Given the description of an element on the screen output the (x, y) to click on. 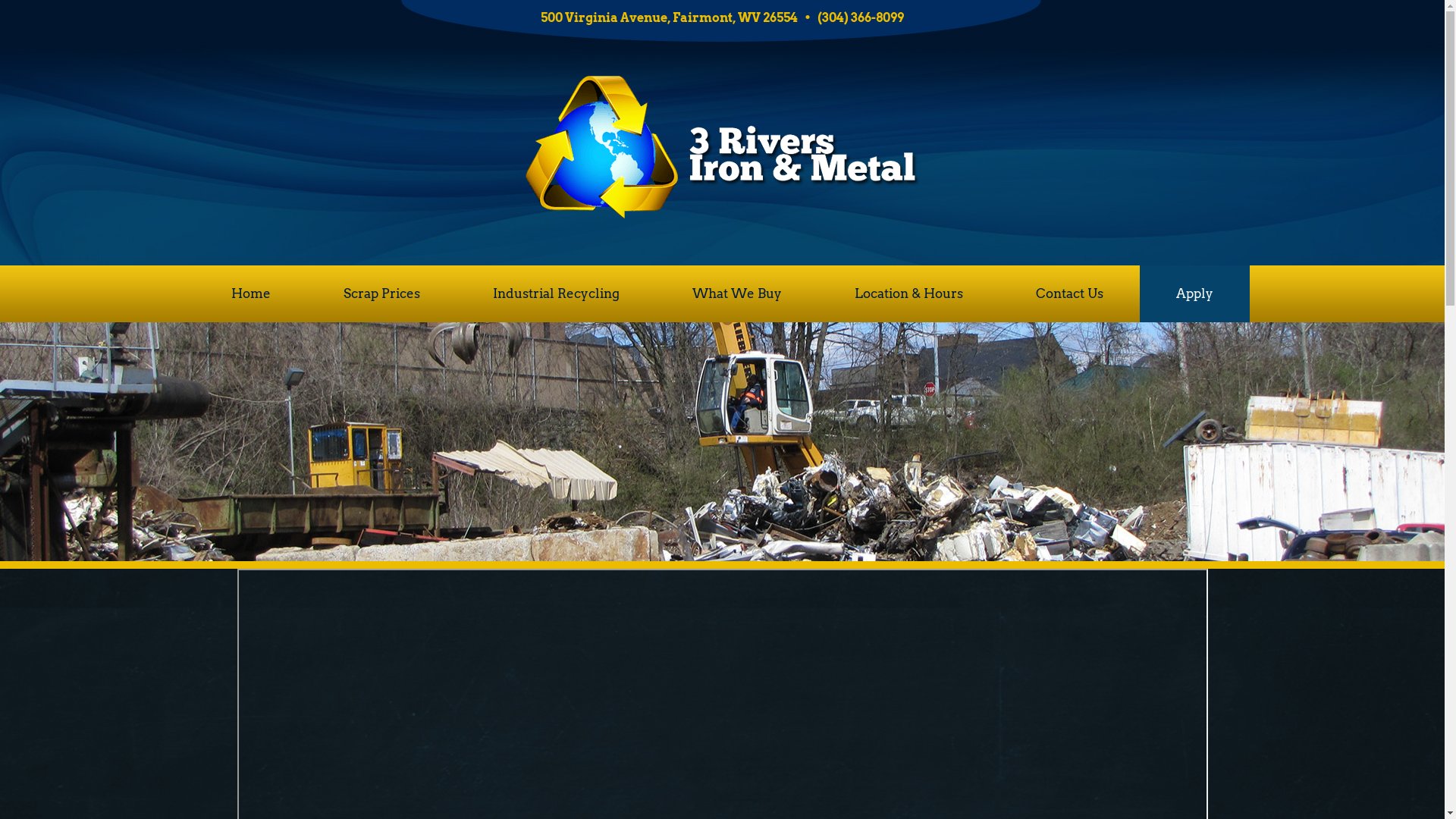
Contact Us Element type: text (1069, 293)
Home Element type: text (250, 293)
What We Buy Element type: text (736, 293)
Apply Element type: text (1194, 293)
Industrial Recycling Element type: text (555, 293)
Scrap Prices Element type: text (381, 293)
Location & Hours Element type: text (908, 293)
(304) 366-8099 Element type: text (860, 17)
